Given the description of an element on the screen output the (x, y) to click on. 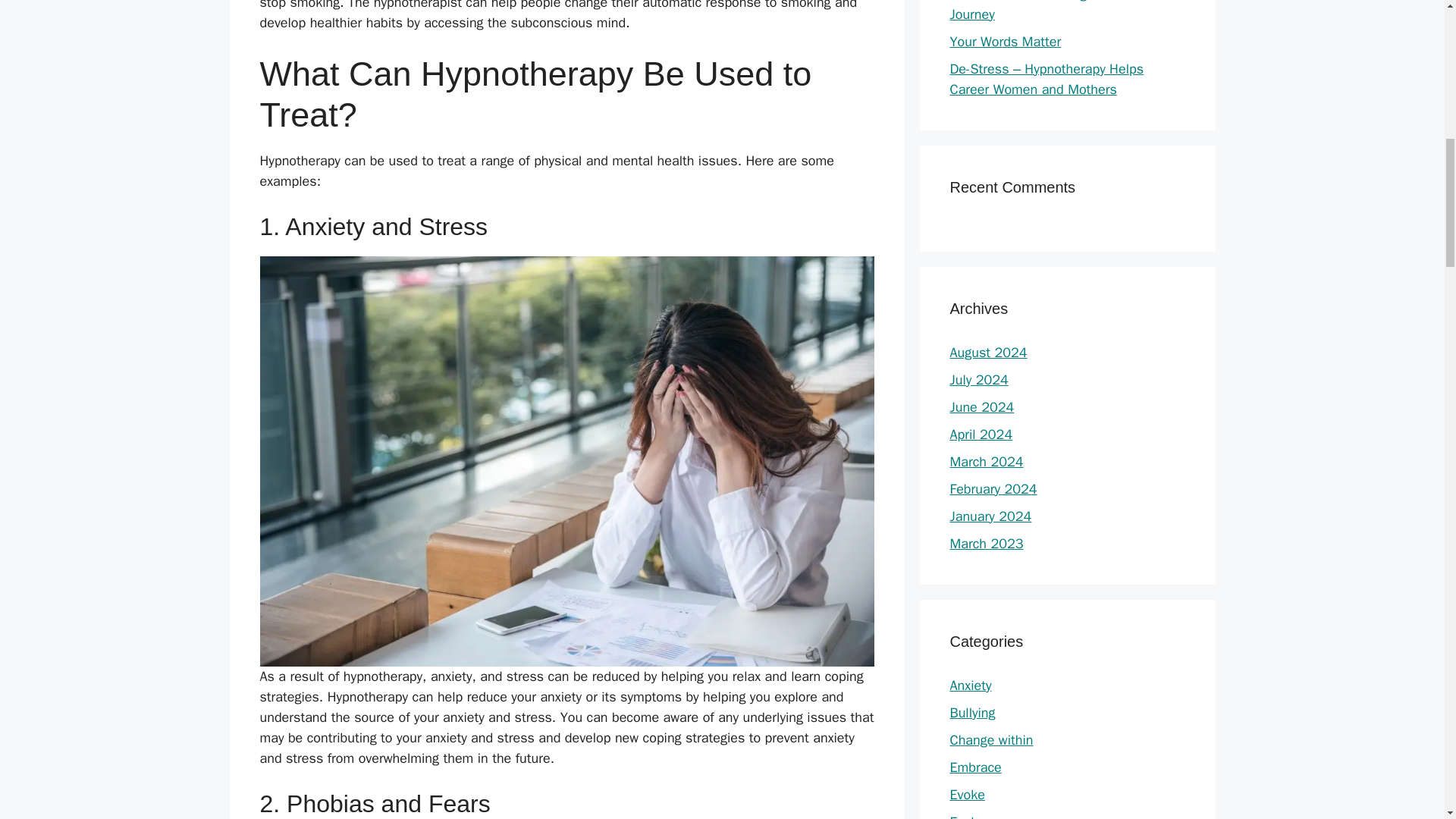
August 2024 (987, 352)
March 2024 (986, 461)
Your Words Matter (1005, 41)
July 2024 (978, 379)
June 2024 (981, 406)
April 2024 (980, 434)
Scroll back to top (1406, 720)
